Given the description of an element on the screen output the (x, y) to click on. 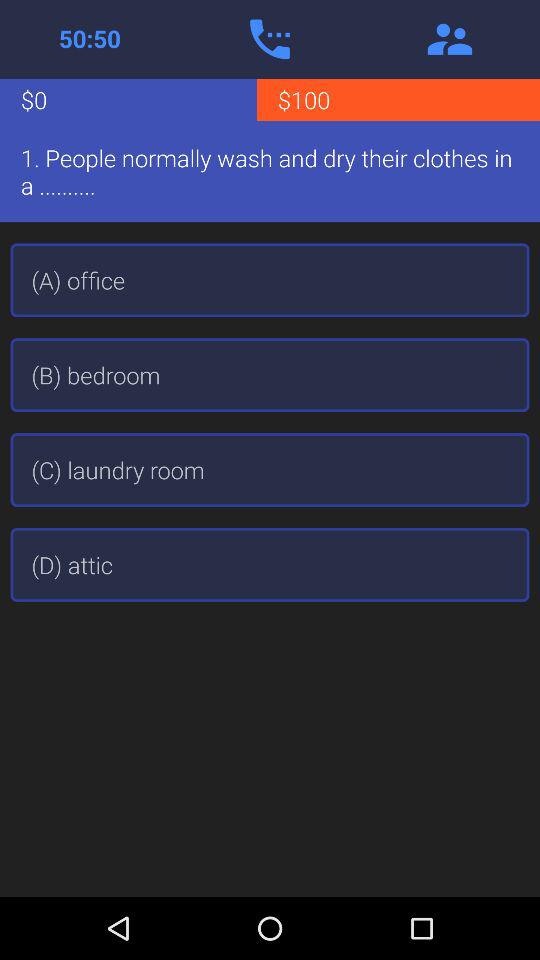
open contacts (450, 39)
